Given the description of an element on the screen output the (x, y) to click on. 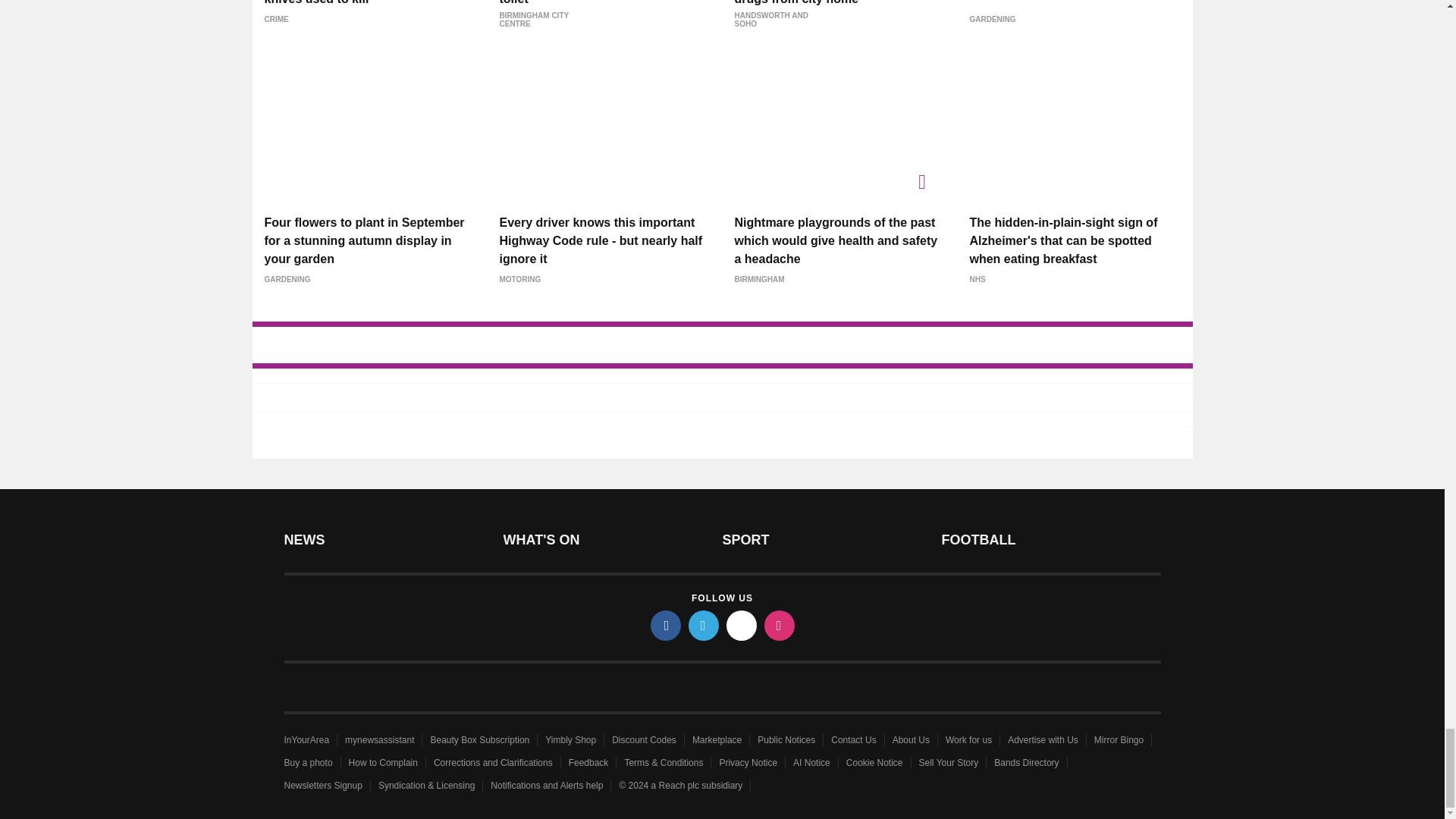
twitter (703, 625)
instagram (779, 625)
facebook (665, 625)
tiktok (741, 625)
